Given the description of an element on the screen output the (x, y) to click on. 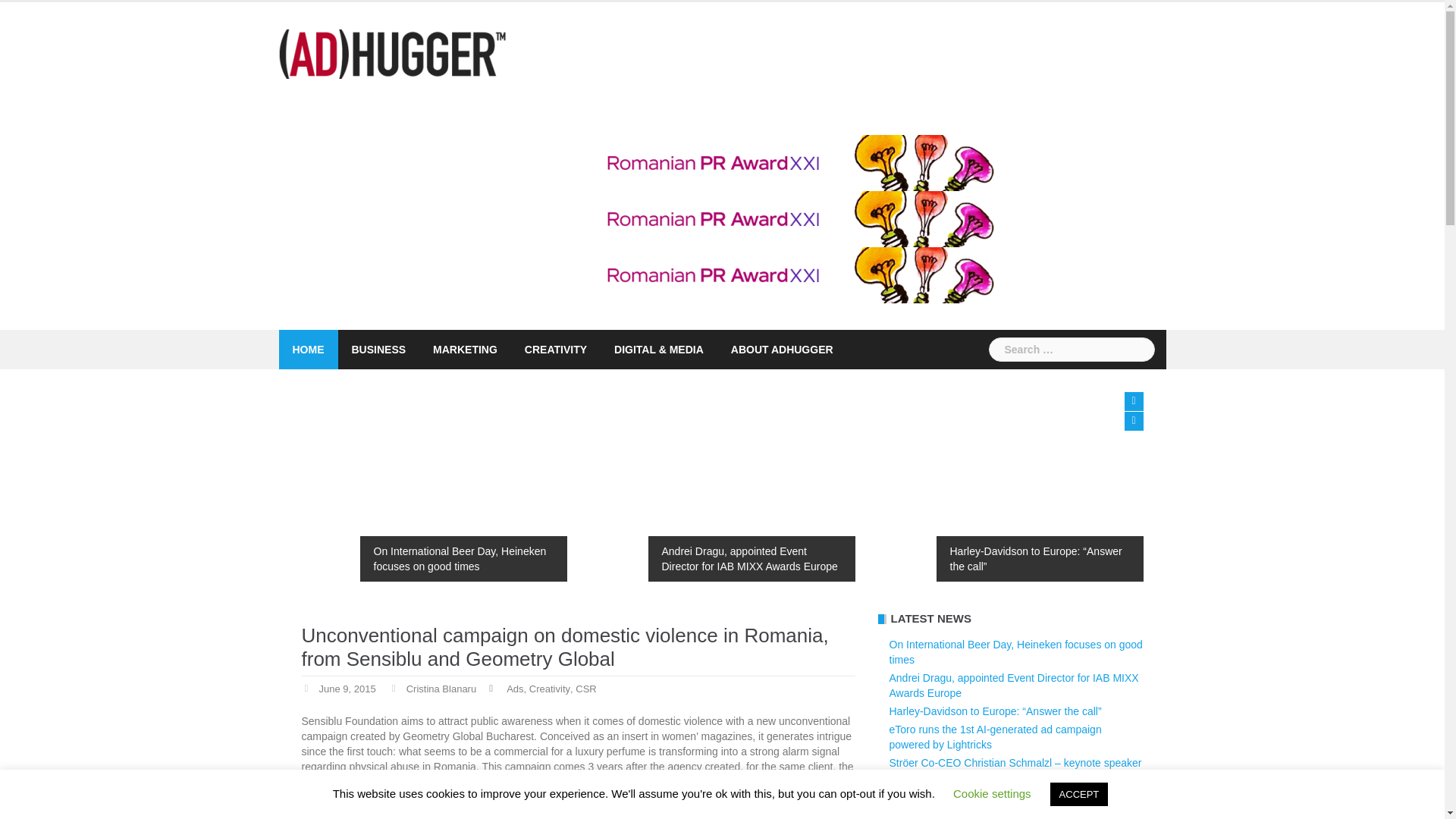
CREATIVITY (555, 349)
AdHugger (392, 52)
MARKETING (464, 349)
BUSINESS (379, 349)
ABOUT ADHUGGER (781, 349)
Search (39, 18)
